Given the description of an element on the screen output the (x, y) to click on. 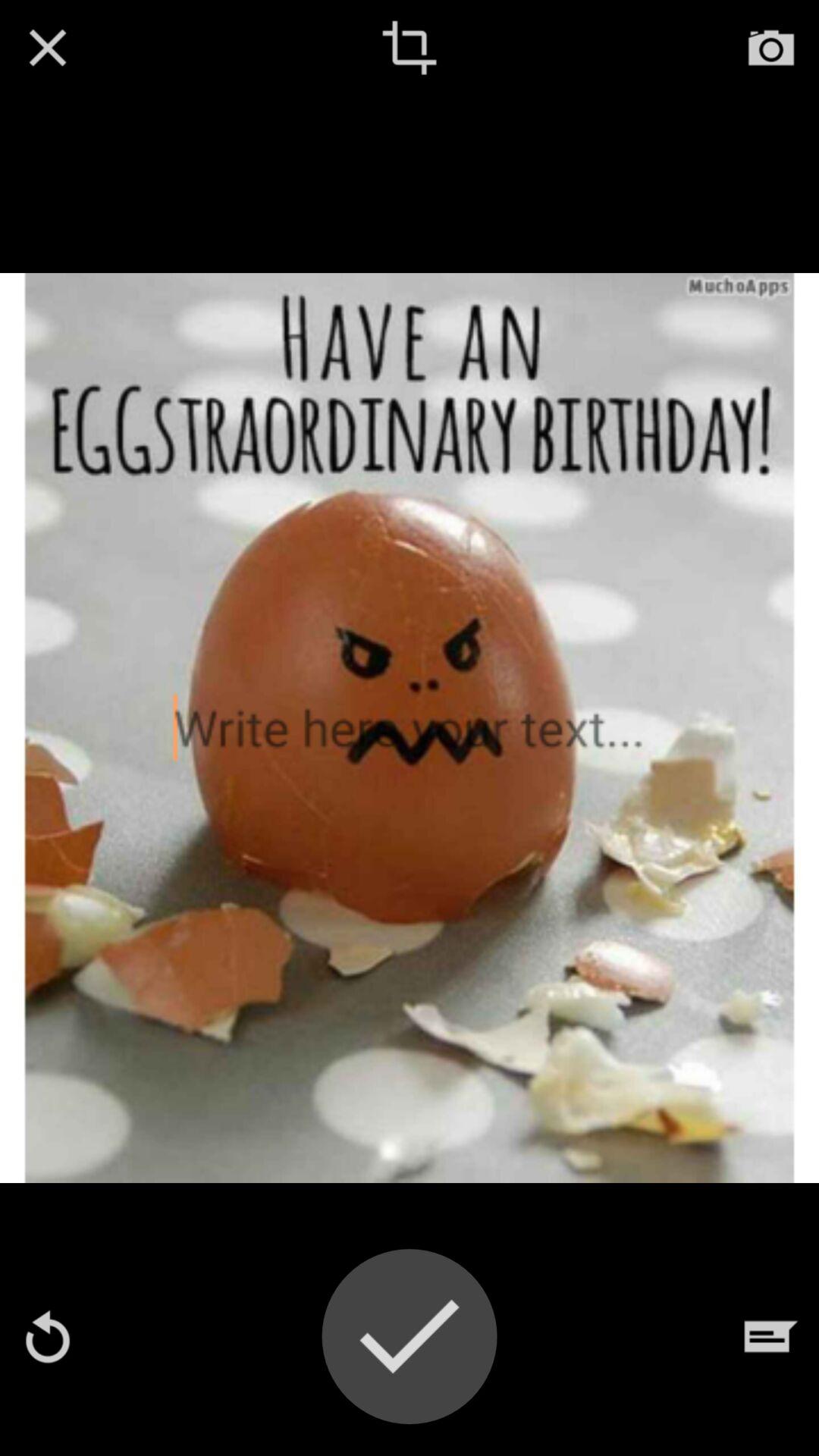
open camera (771, 47)
